Given the description of an element on the screen output the (x, y) to click on. 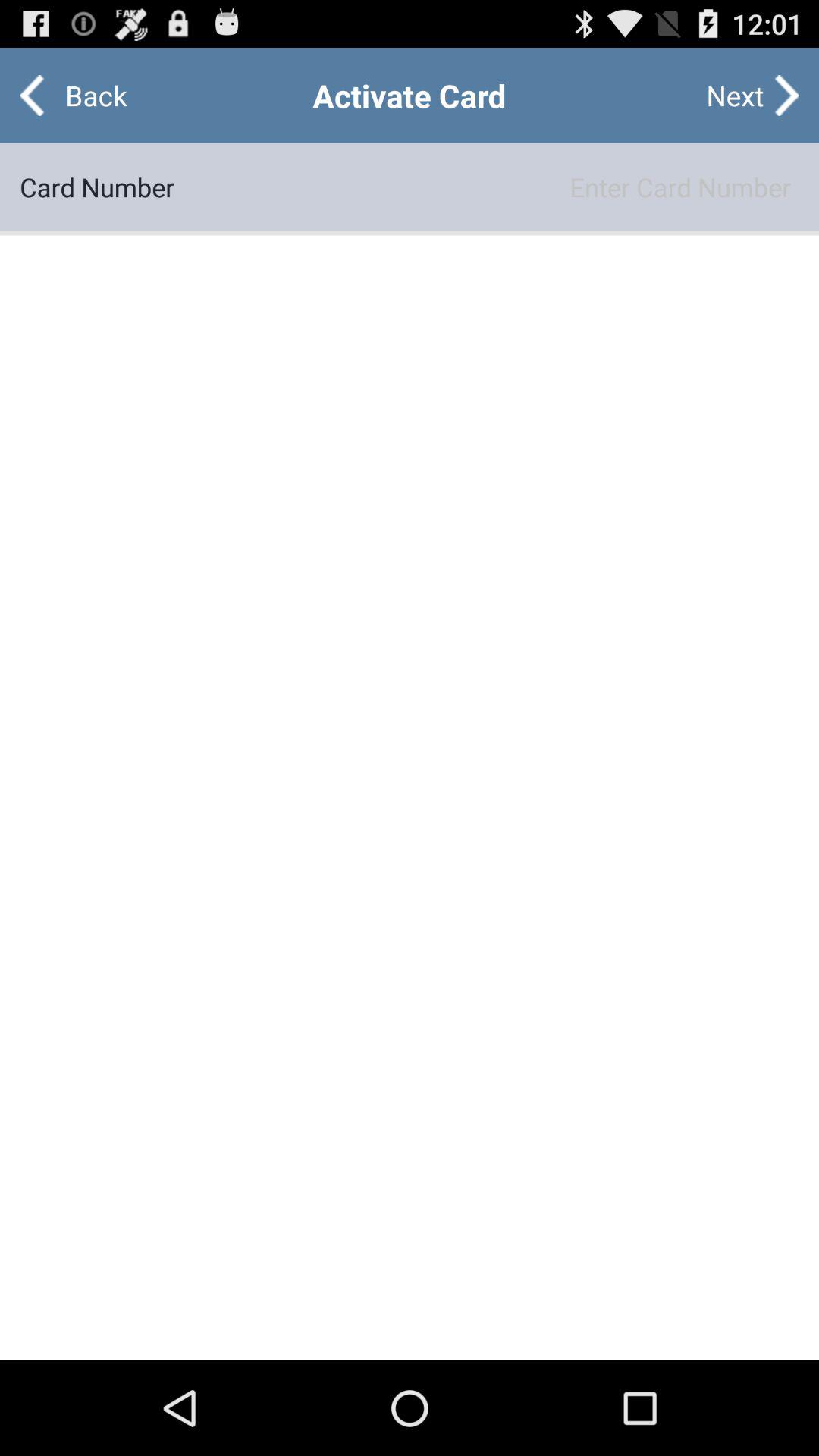
choose next item (735, 95)
